Given the description of an element on the screen output the (x, y) to click on. 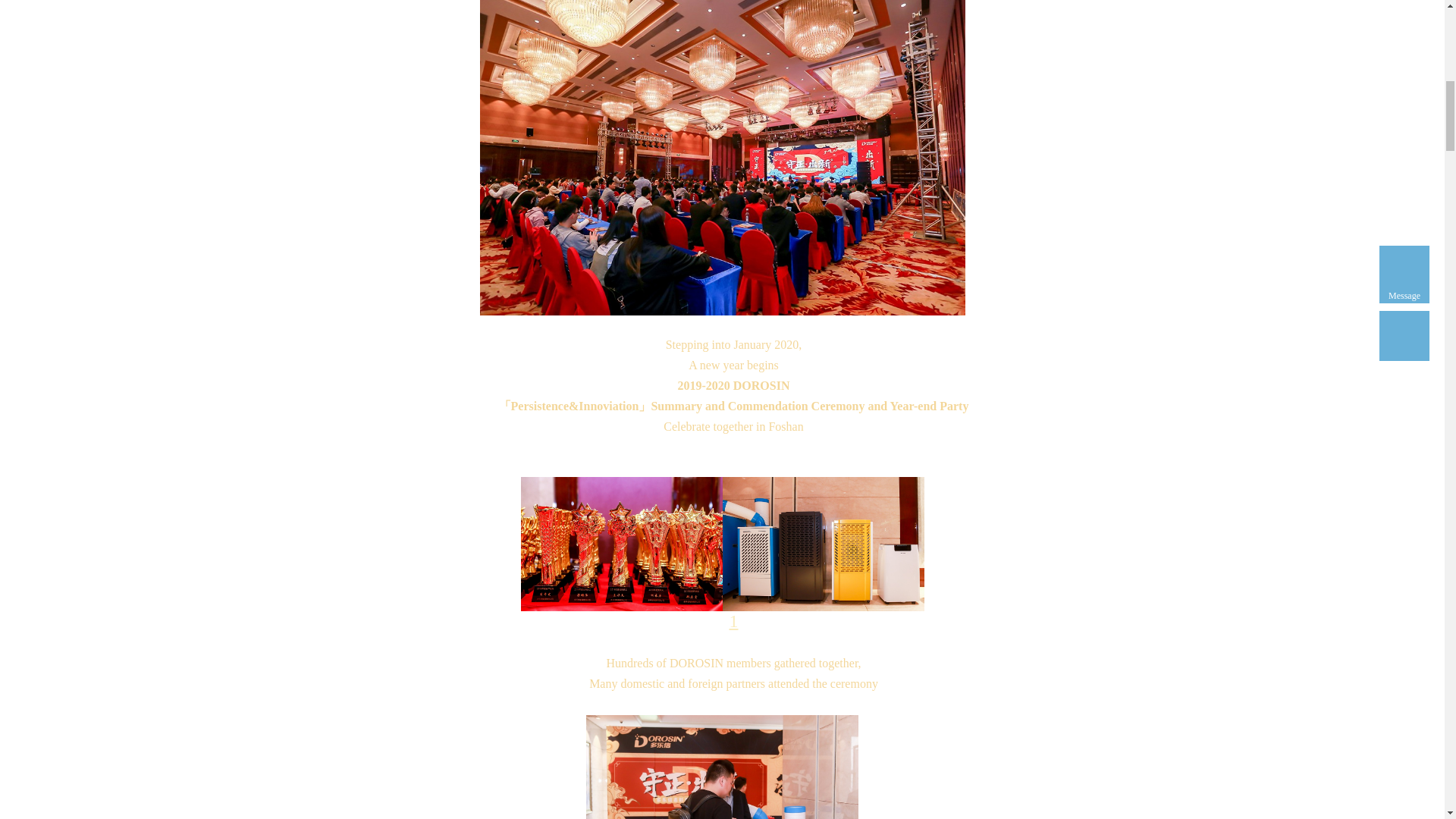
1603447039819196.jpg (722, 766)
1603447022316886.jpg (822, 543)
1603447006549860.jpg (620, 543)
